Given the description of an element on the screen output the (x, y) to click on. 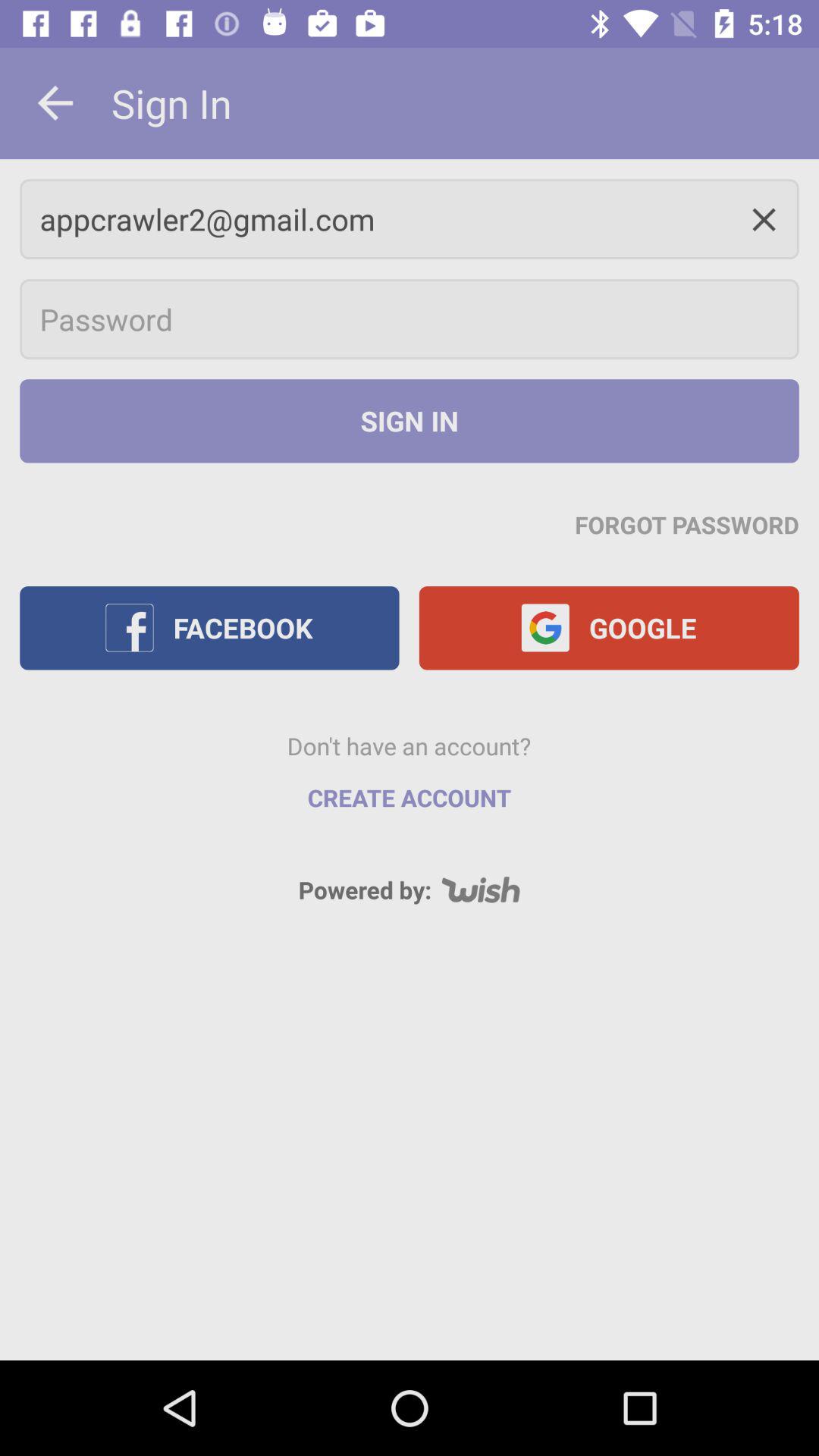
turn on appcrawler2@gmail.com icon (409, 219)
